Given the description of an element on the screen output the (x, y) to click on. 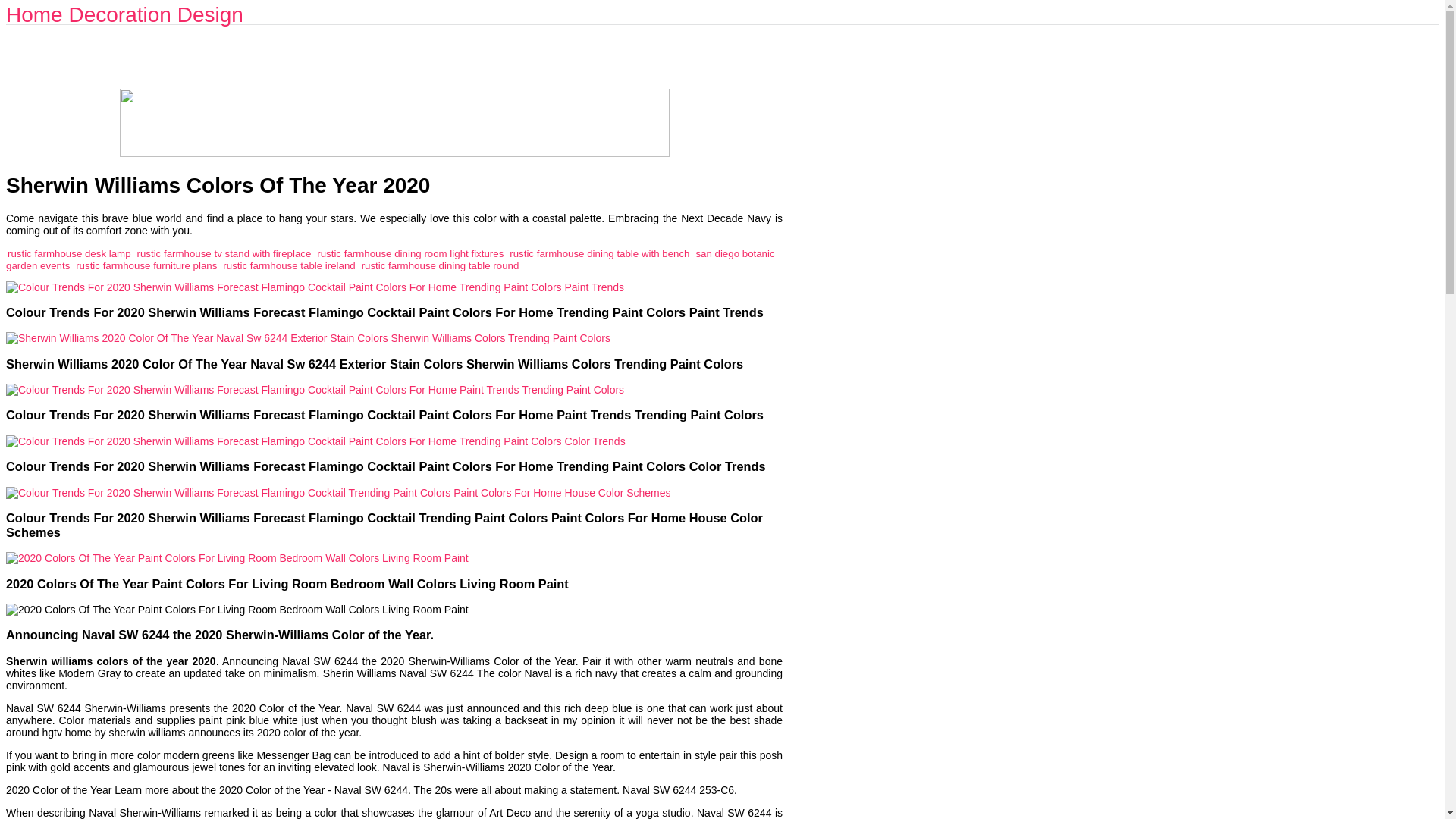
san diego botanic garden events (389, 259)
rustic farmhouse dining room light fixtures (410, 252)
rustic farmhouse dining table round (440, 265)
rustic farmhouse dining table with bench (598, 252)
Home Decoration Design (124, 14)
rustic farmhouse furniture plans (145, 265)
Home Decoration Design (124, 14)
rustic farmhouse table ireland (288, 265)
rustic farmhouse tv stand with fireplace (223, 252)
rustic farmhouse desk lamp (69, 252)
